Given the description of an element on the screen output the (x, y) to click on. 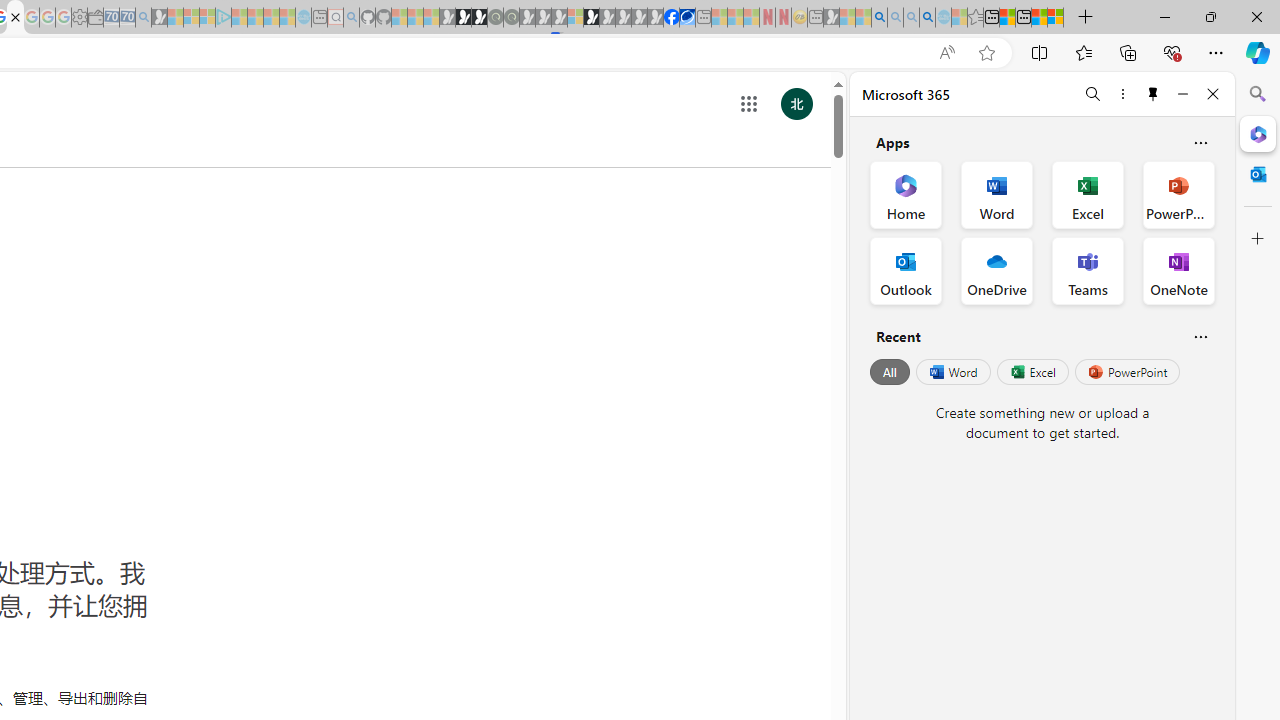
Class: gb_E (749, 103)
AirNow.gov (687, 17)
OneDrive Office App (996, 270)
Bing AI - Search (879, 17)
Word Office App (996, 194)
Home Office App (906, 194)
Word (952, 372)
